Given the description of an element on the screen output the (x, y) to click on. 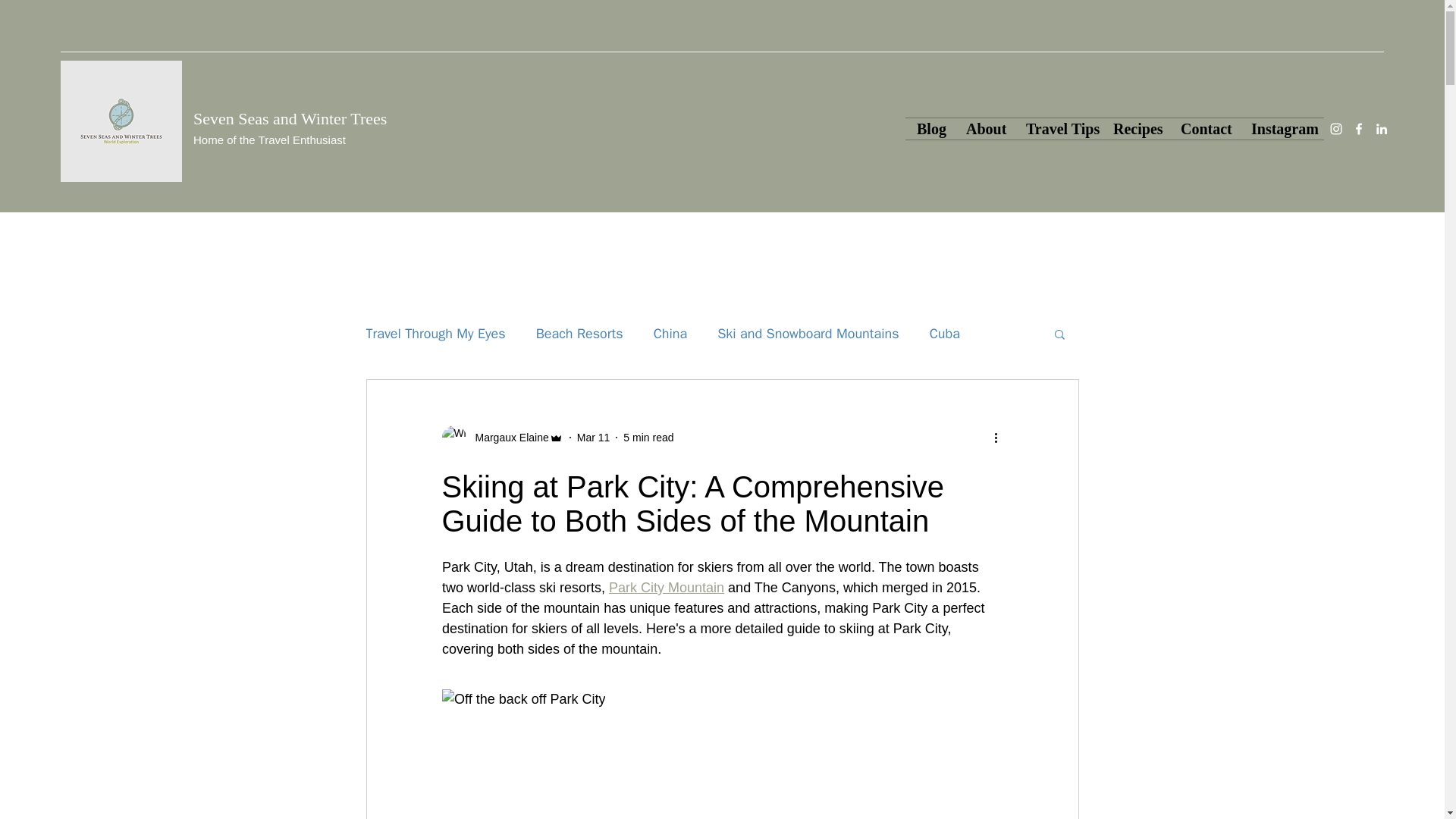
Ski and Snowboard Mountains (807, 333)
Margaux Elaine (501, 437)
Travel Tips (1058, 128)
About (984, 128)
Recipes (1135, 128)
Margaux Elaine (506, 437)
5 min read (647, 437)
Blog (930, 128)
Beach Resorts (579, 333)
Seven Seas and Winter Trees (290, 117)
Contact (1204, 128)
China (670, 333)
Travel Through My Eyes (435, 333)
Instagram (1281, 128)
Cuba (944, 333)
